Given the description of an element on the screen output the (x, y) to click on. 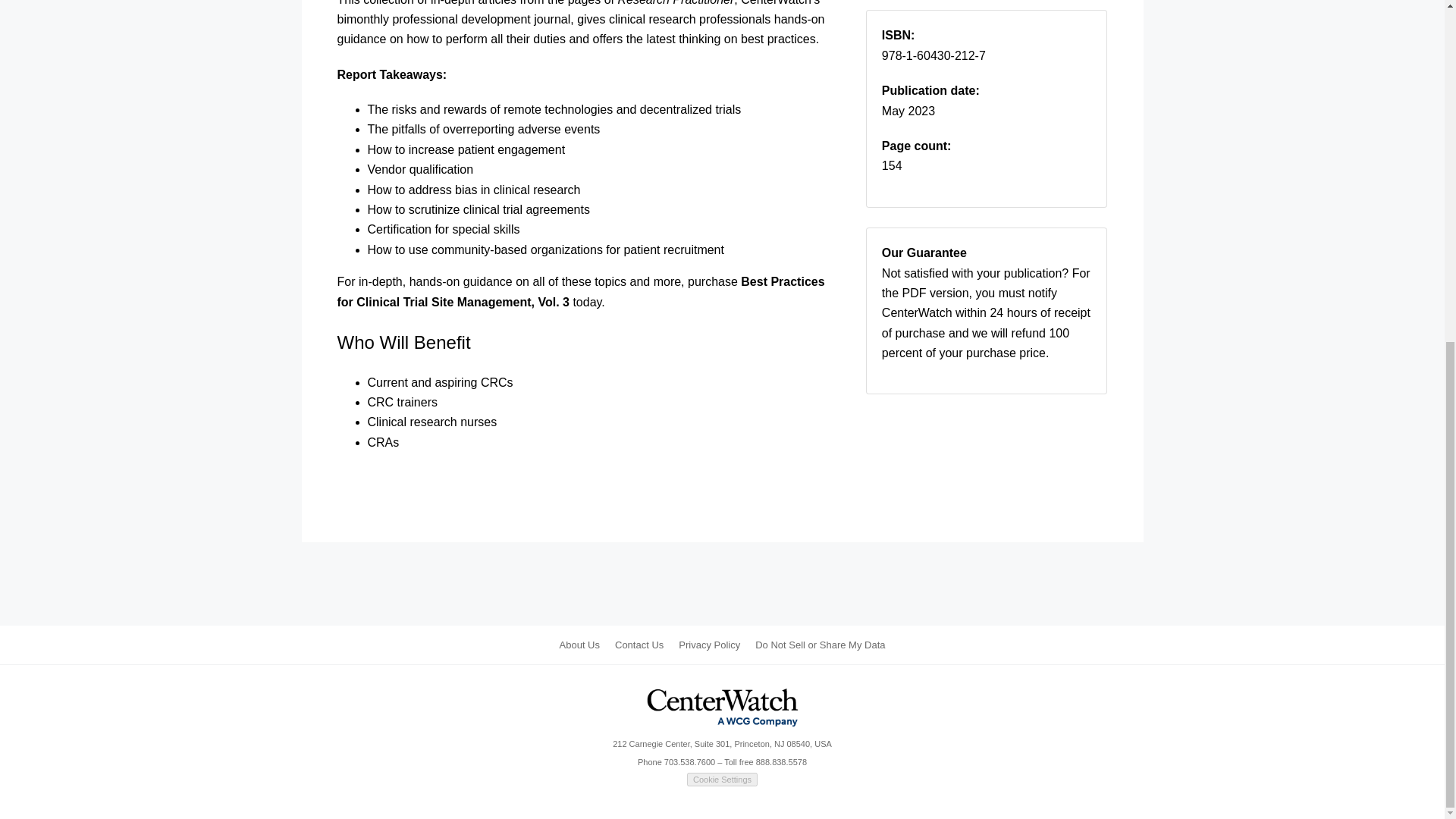
Contact Us (638, 644)
About Us (579, 644)
Privacy Policy (708, 644)
